Given the description of an element on the screen output the (x, y) to click on. 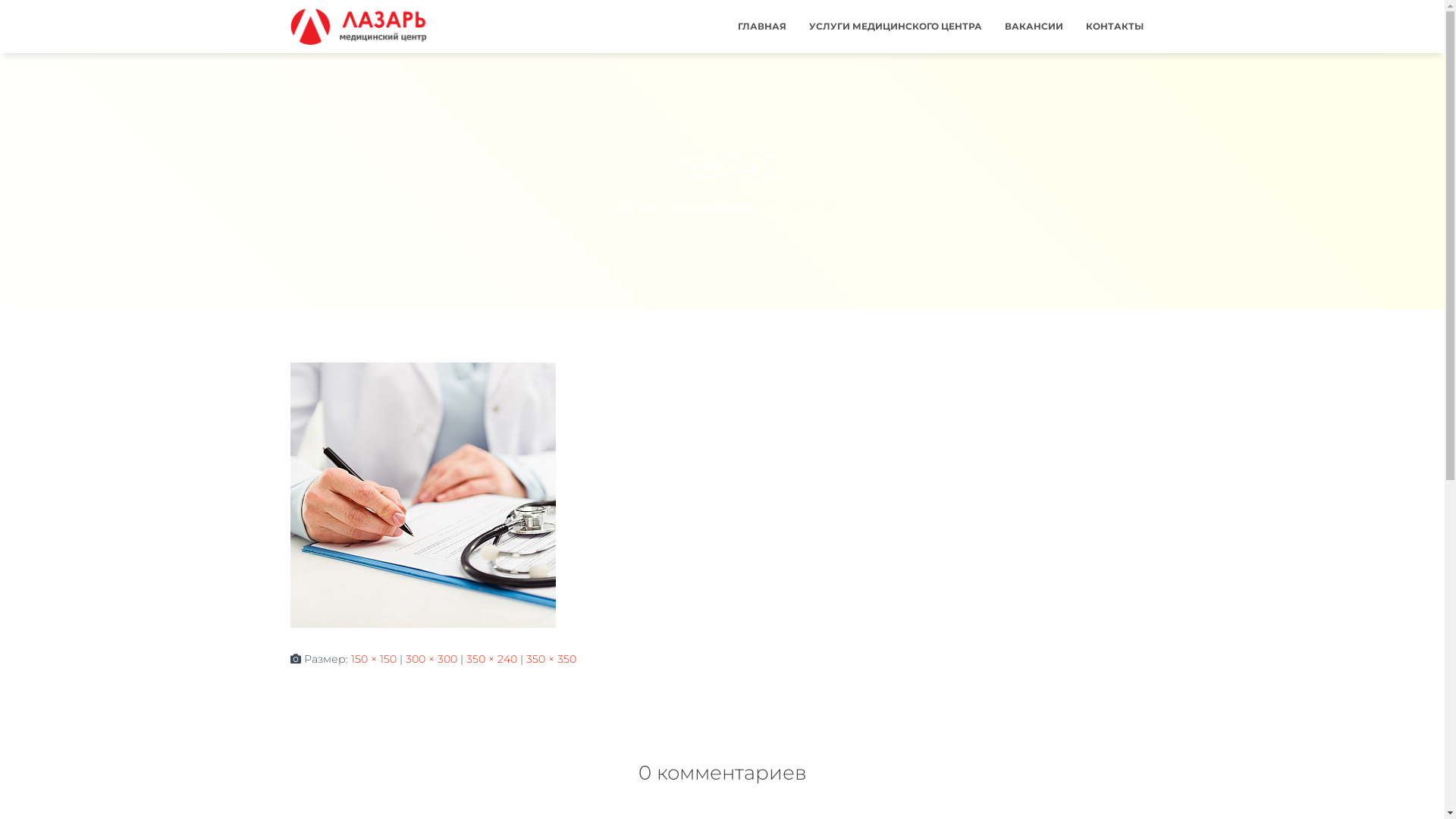
cse343 Element type: hover (422, 494)
lazar Element type: text (739, 206)
